Given the description of an element on the screen output the (x, y) to click on. 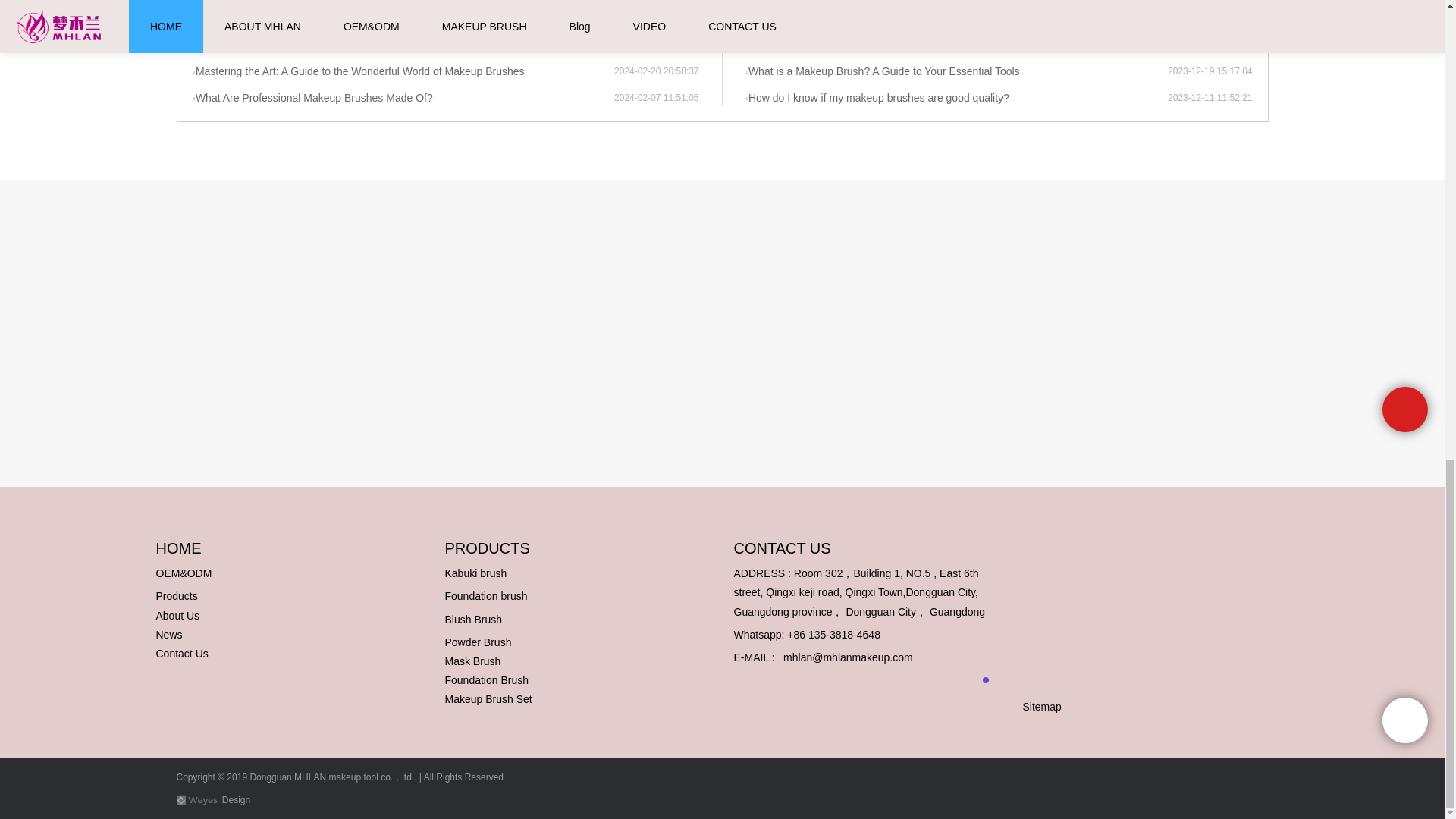
What Are Professional Makeup Brushes Made Of? (403, 98)
Get a Flawless Finish with Our Premium Makeup Brushes (955, 45)
News (169, 634)
About Us (177, 615)
Products (176, 595)
What is a Makeup Brush? A Guide to Your Essential Tools (955, 71)
